Given the description of an element on the screen output the (x, y) to click on. 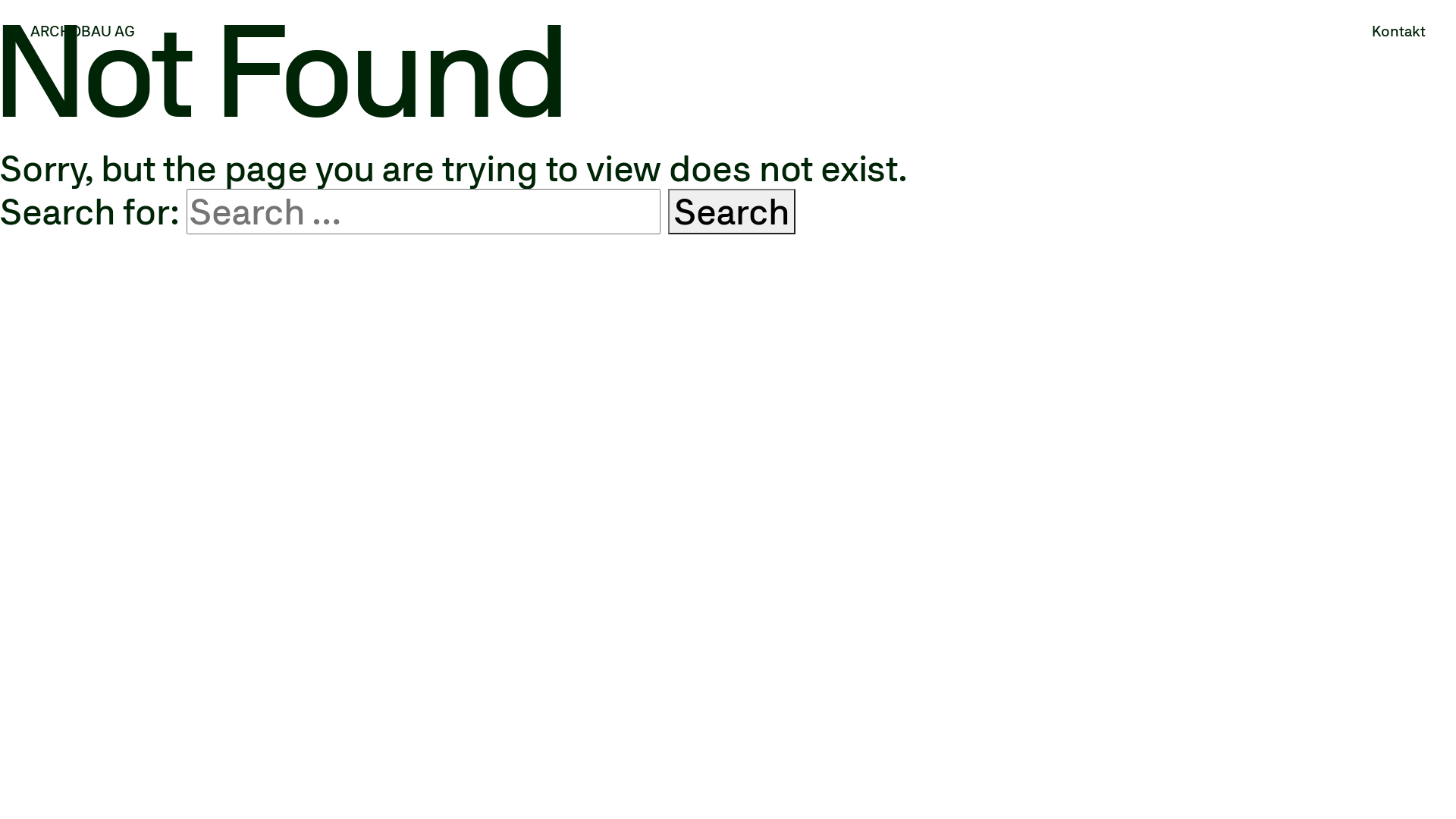
ARCHOBAU AG Element type: text (82, 30)
Search Element type: text (731, 211)
Kontakt Element type: text (1398, 30)
